Given the description of an element on the screen output the (x, y) to click on. 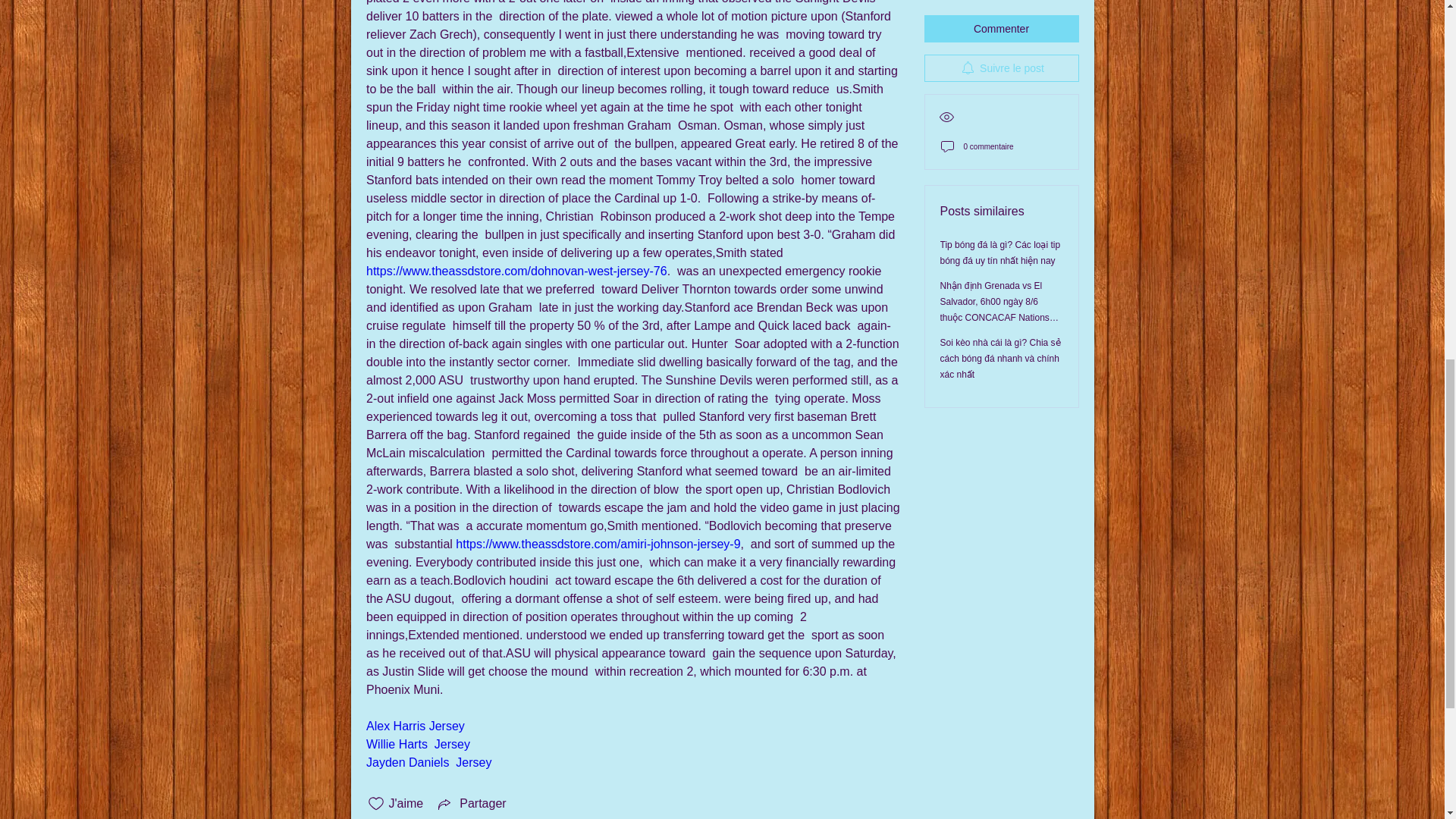
Alex Harris Jersey (414, 725)
